Given the description of an element on the screen output the (x, y) to click on. 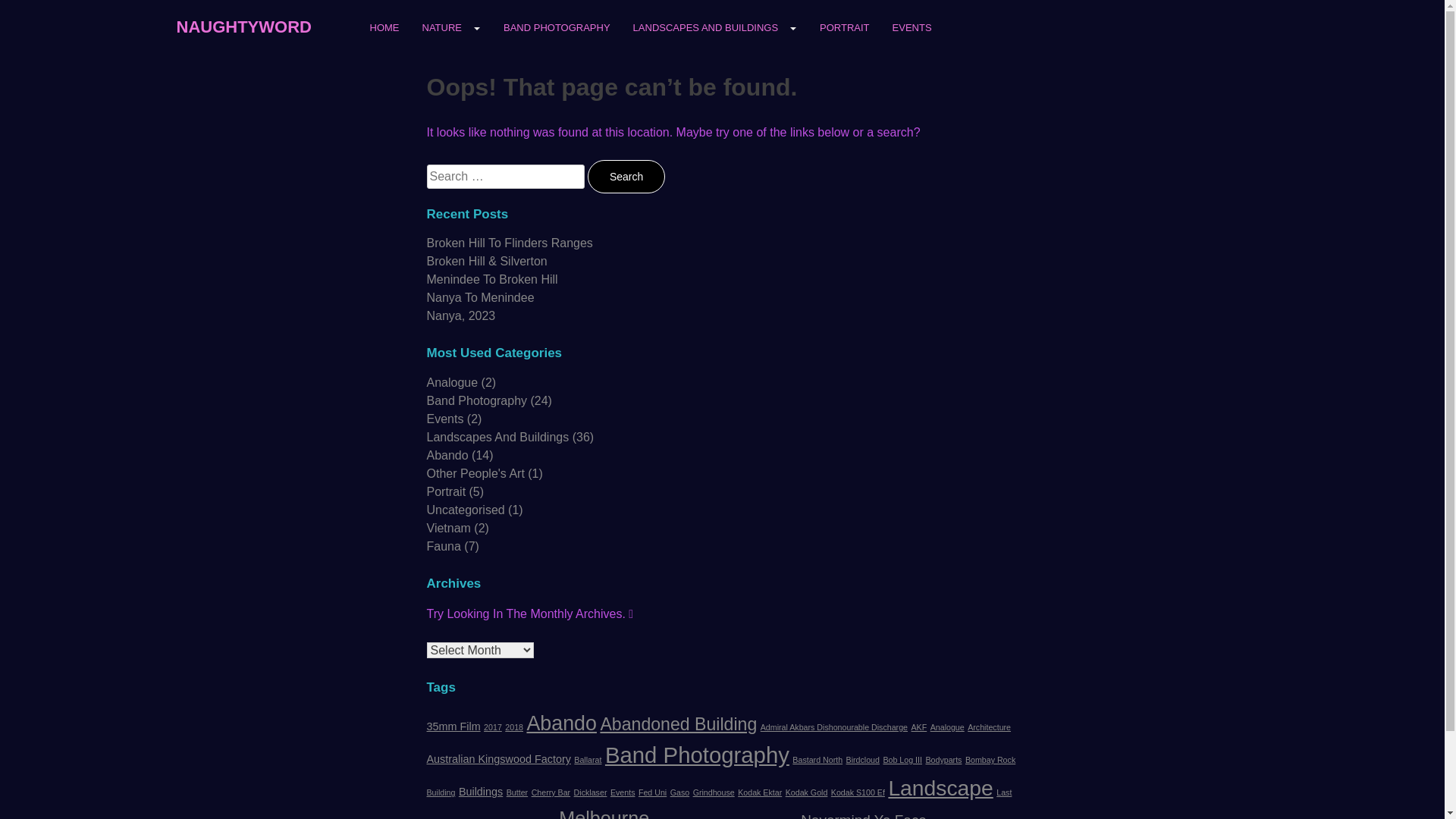
Analogue Element type: text (947, 726)
2017 Element type: text (492, 726)
EVENTS Element type: text (912, 32)
Butter Element type: text (516, 792)
Fauna Element type: text (443, 545)
Bodyparts Element type: text (943, 759)
Broken Hill To Flinders Ranges Element type: text (509, 242)
Ballarat Element type: text (587, 759)
Architecture Element type: text (988, 726)
Nanya To Menindee Element type: text (479, 297)
Analogue Element type: text (451, 382)
Portrait Element type: text (445, 491)
Menindee To Broken Hill Element type: text (491, 279)
LANDSCAPES AND BUILDINGS Element type: text (714, 27)
Band Photography Element type: text (476, 400)
Band Photography Element type: text (697, 754)
Kodak Gold Element type: text (806, 792)
Cherry Bar Element type: text (551, 792)
Bob Log III Element type: text (902, 759)
HOME Element type: text (383, 32)
Kodak S100 Ef Element type: text (857, 792)
AKF Element type: text (918, 726)
Abando Element type: text (446, 454)
Building Element type: text (440, 792)
Bastard North Element type: text (817, 759)
Other People'S Art Element type: text (475, 473)
Search Element type: text (626, 176)
Birdcloud Element type: text (862, 759)
Vietnam Element type: text (448, 527)
BAND PHOTOGRAPHY Element type: text (556, 32)
Events Element type: text (622, 792)
35mm Film Element type: text (453, 726)
Landscapes And Buildings Element type: text (497, 436)
Fed Uni Element type: text (652, 792)
NATURE Element type: text (451, 27)
Bombay Rock Element type: text (990, 759)
Buildings Element type: text (480, 791)
Admiral Akbars Dishonourable Discharge Element type: text (833, 726)
Landscape Element type: text (940, 787)
Gaso Element type: text (679, 792)
Abandoned Building Element type: text (677, 724)
Dicklaser Element type: text (590, 792)
Events Element type: text (444, 418)
Uncategorised Element type: text (465, 509)
Australian Kingswood Factory Element type: text (498, 759)
2018 Element type: text (514, 726)
Grindhouse Element type: text (713, 792)
NAUGHTYWORD Element type: text (242, 25)
Nanya, 2023 Element type: text (460, 315)
Kodak Ektar Element type: text (759, 792)
Broken Hill & Silverton Element type: text (486, 260)
PORTRAIT Element type: text (844, 32)
Abando Element type: text (561, 723)
